Given the description of an element on the screen output the (x, y) to click on. 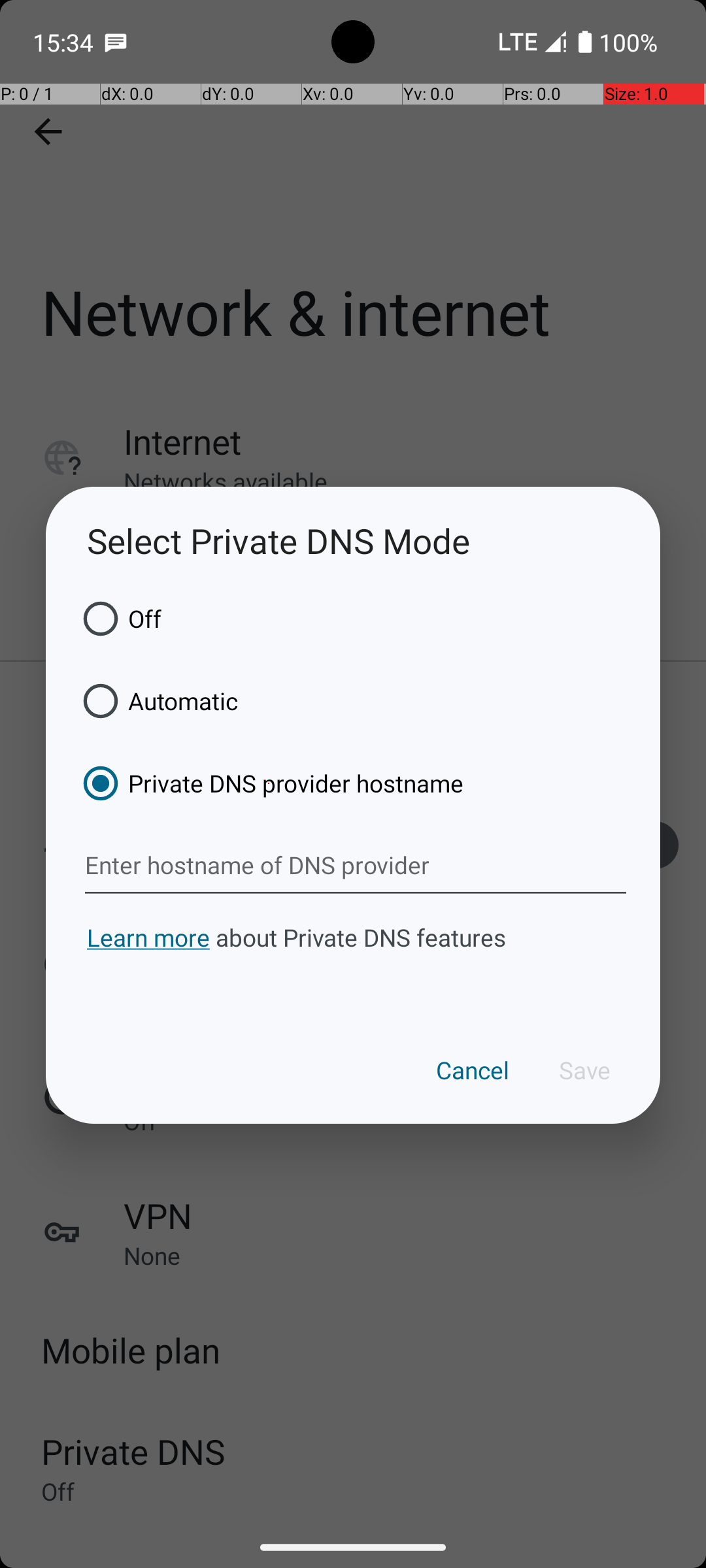
Select Private DNS Mode Element type: android.widget.TextView (352, 540)
Learn more about Private DNS features Element type: android.widget.TextView (352, 961)
Private DNS provider hostname Element type: android.widget.RadioButton (268, 783)
Enter hostname of DNS provider Element type: android.widget.EditText (355, 865)
